Given the description of an element on the screen output the (x, y) to click on. 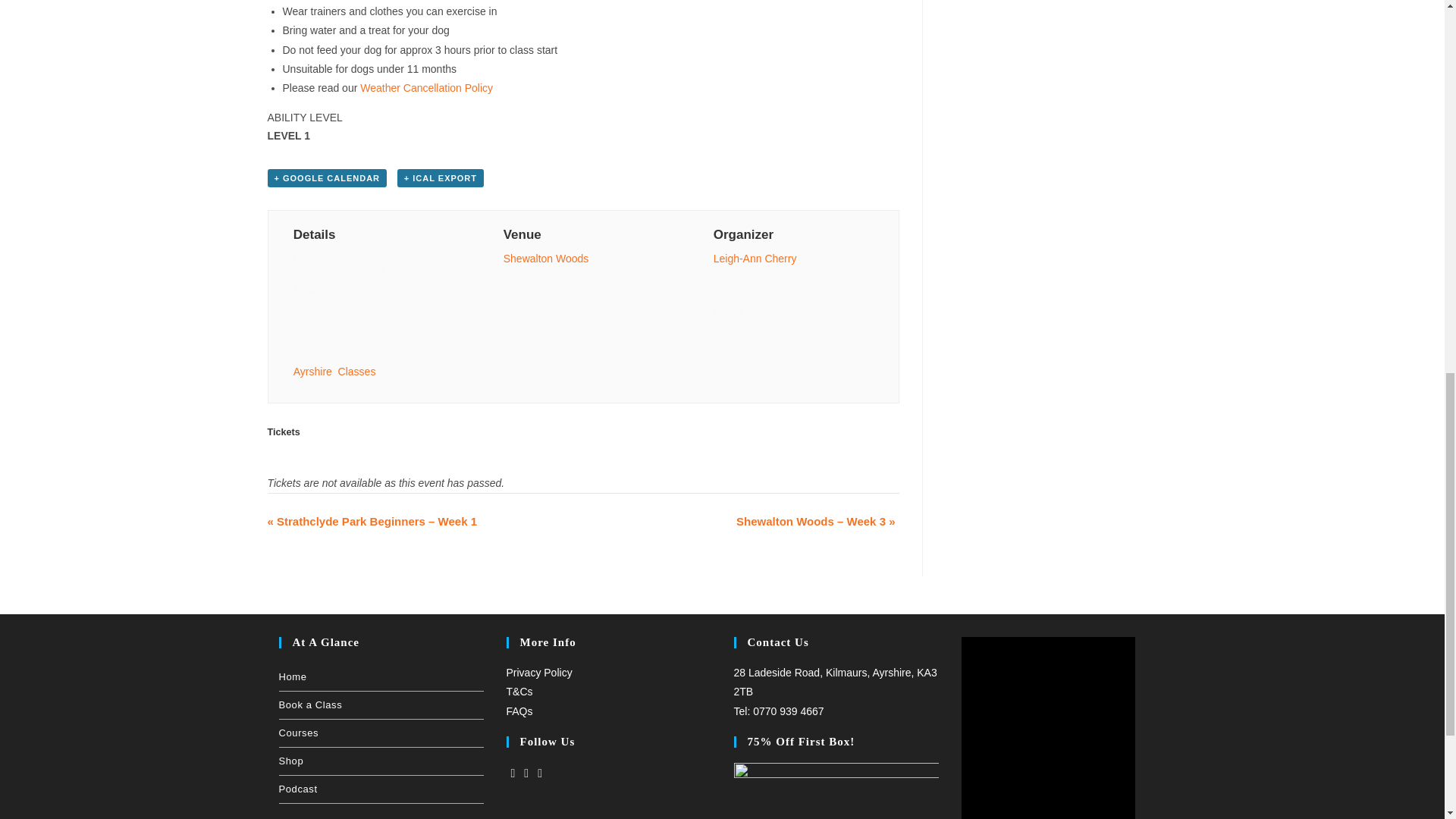
2021-11-20 (373, 303)
Leigh-Ann Cherry (754, 258)
Add to Google Calendar (326, 177)
2021-11-20 (340, 268)
Download .ics file (440, 177)
